Given the description of an element on the screen output the (x, y) to click on. 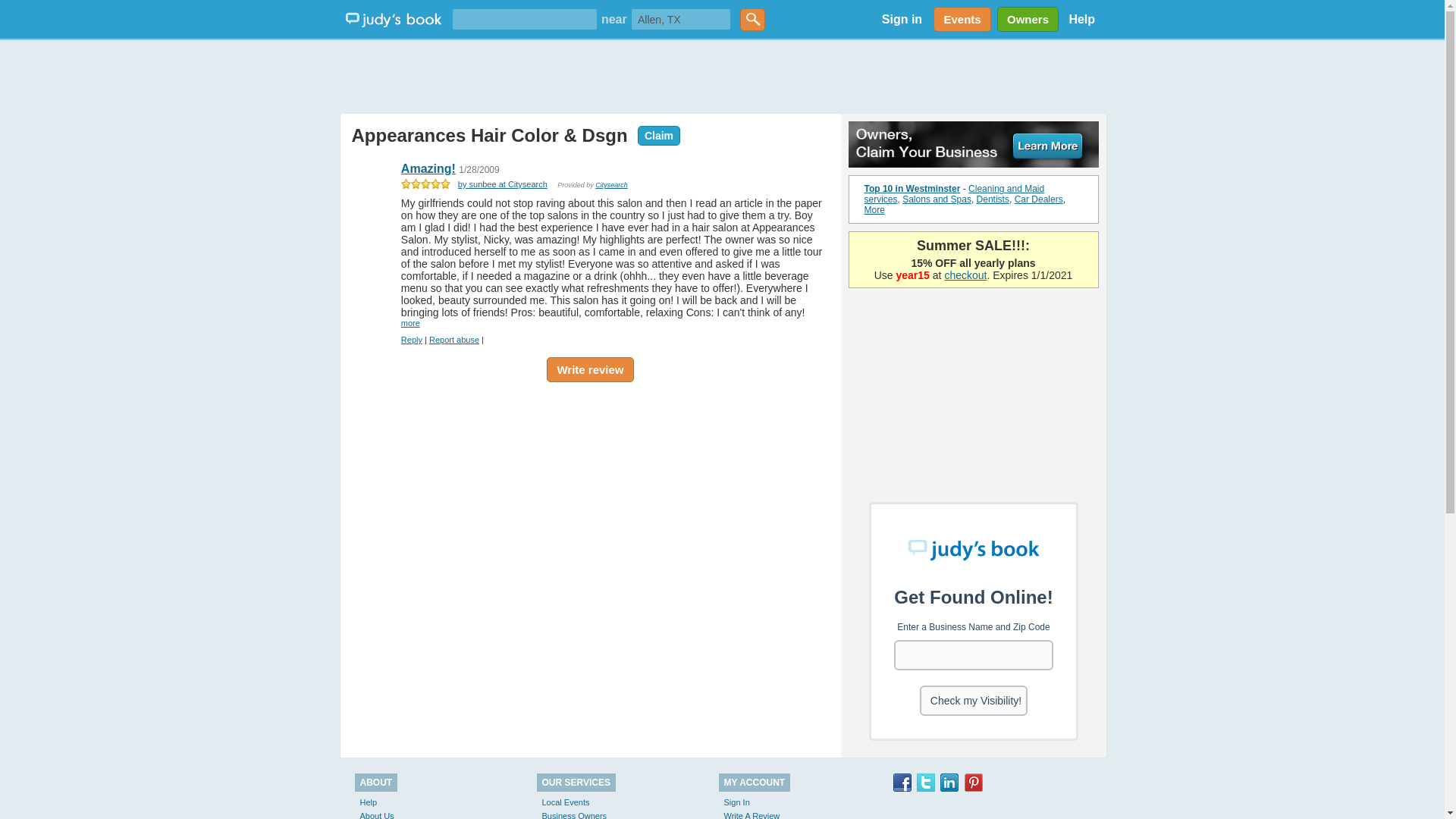
Local Events (565, 801)
Advertisement (973, 391)
Write review (590, 368)
more (410, 322)
by sunbee at Citysearch (501, 184)
Citysearch (611, 184)
Dentists (992, 199)
Allen, TX (680, 19)
Claim (654, 134)
Reply (411, 338)
Advertisement (590, 504)
About Us (376, 815)
Owners (1025, 18)
Amazing! (428, 168)
Top 10 in Westminster (912, 188)
